Given the description of an element on the screen output the (x, y) to click on. 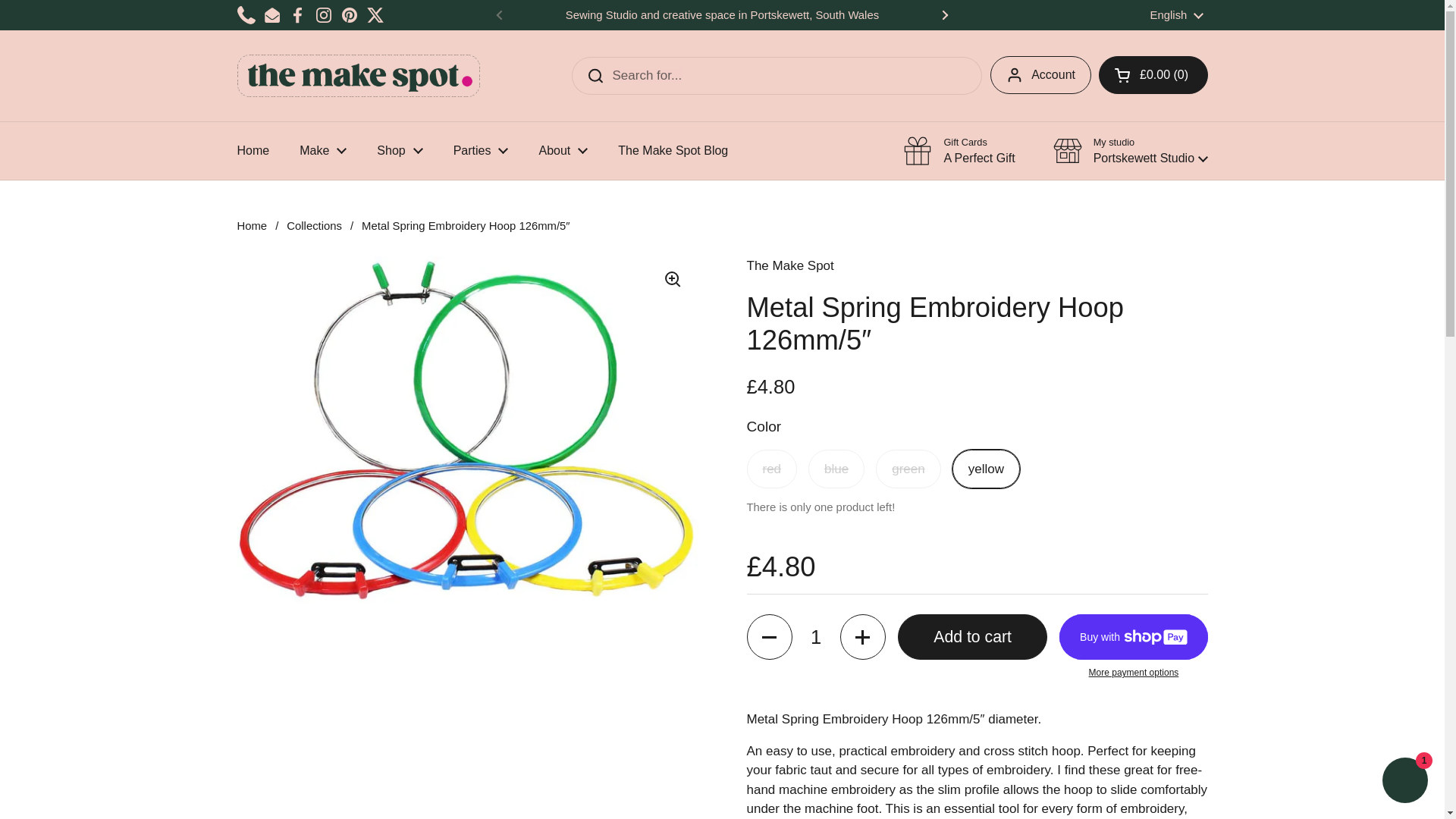
English (1177, 14)
Shop (399, 150)
Account (1040, 75)
Instagram (322, 14)
The Make Spot (357, 75)
Make (322, 150)
Open cart (1153, 75)
Twitter (374, 14)
Facebook (296, 14)
Make (322, 150)
Join us on our popular new Wednesday sessions! (1168, 15)
Home (252, 150)
Home (252, 150)
Shop (399, 150)
